Given the description of an element on the screen output the (x, y) to click on. 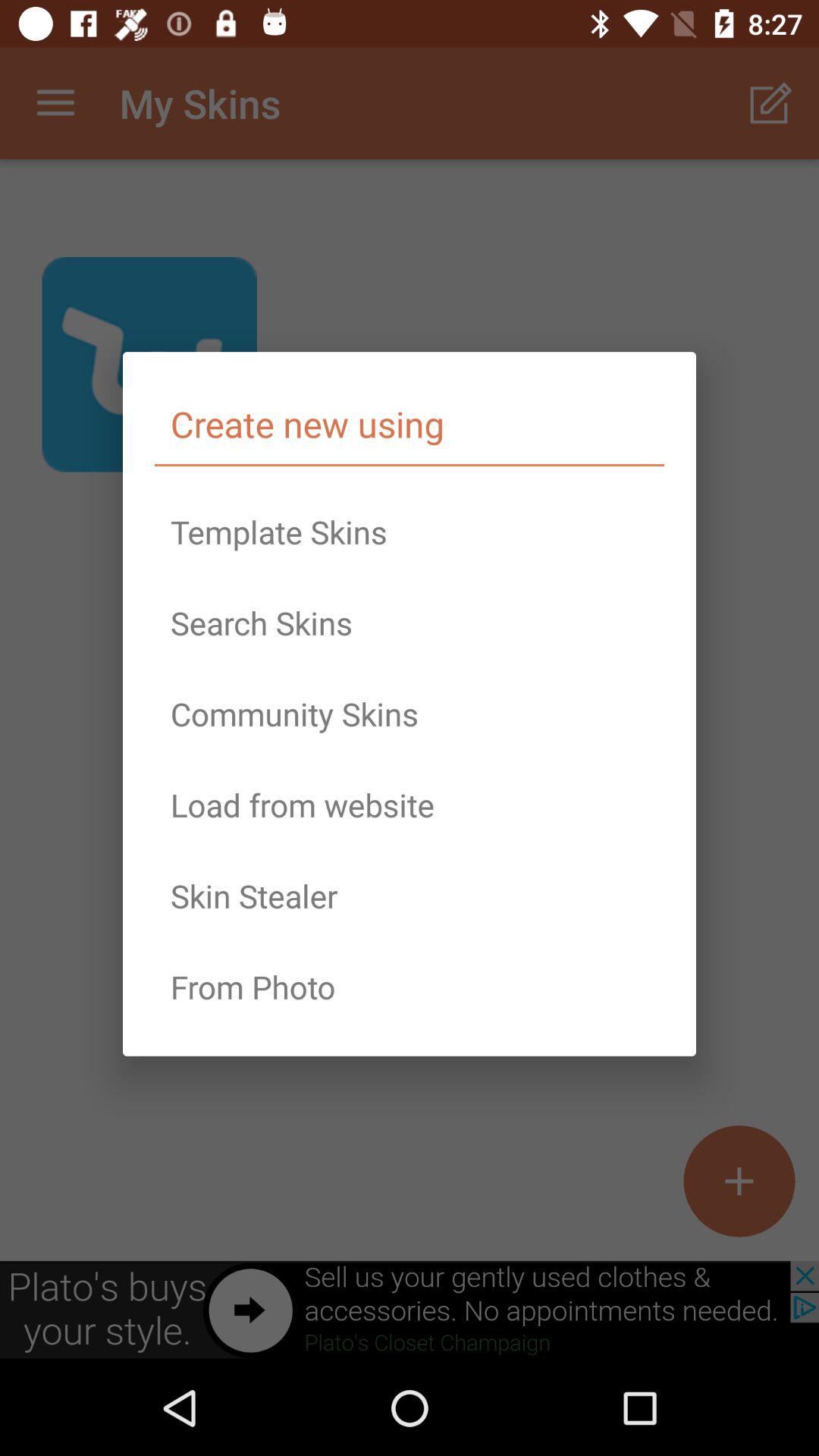
scroll to template skins item (409, 531)
